Given the description of an element on the screen output the (x, y) to click on. 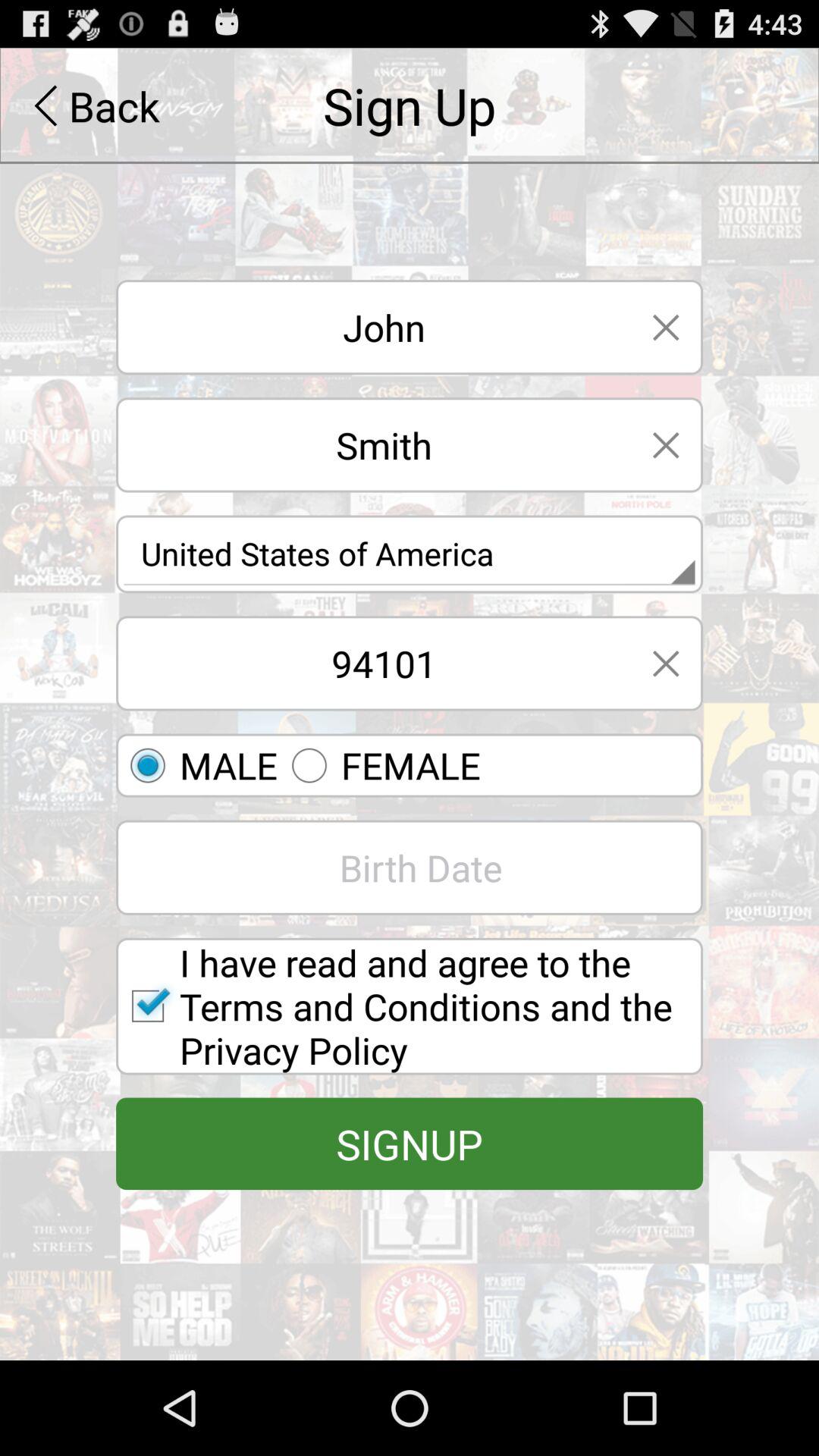
remove and edit (665, 663)
